Given the description of an element on the screen output the (x, y) to click on. 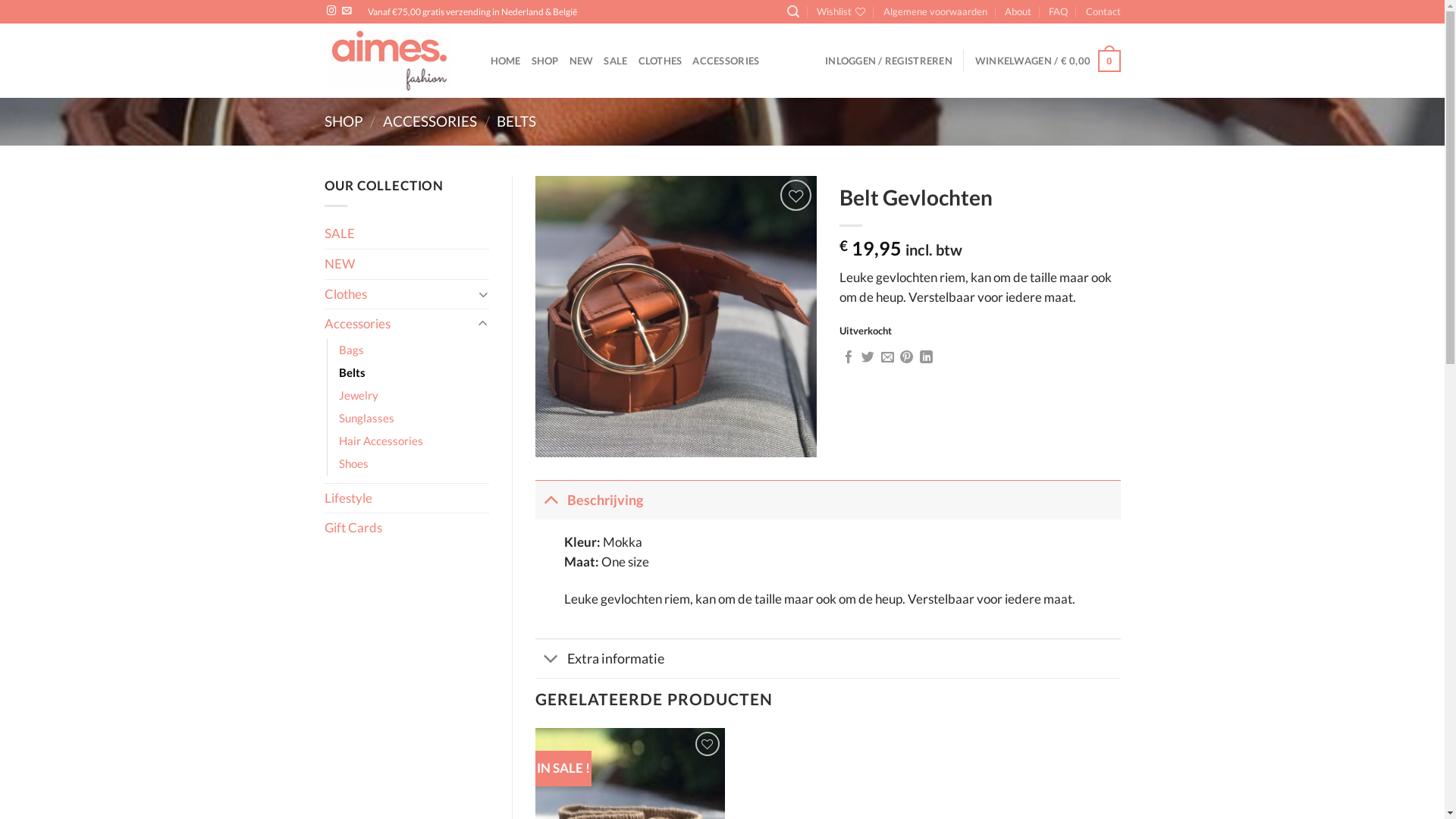
Deel op Facebook Element type: hover (848, 358)
Wishlist Element type: text (840, 11)
Stuur door naar een vriend Element type: hover (887, 358)
Deel op Twitter Element type: hover (867, 358)
About Element type: text (1017, 11)
Lifestyle Element type: text (406, 498)
Accessories Element type: text (398, 323)
ACCESSORIES Element type: text (429, 120)
Sunglasses Element type: text (365, 418)
Beschrijving Element type: text (827, 499)
Clothes Element type: text (398, 294)
Jewelry Element type: text (357, 395)
Belt gevlochten mokka Element type: hover (675, 316)
SHOP Element type: text (544, 60)
SALE Element type: text (615, 60)
CLOTHES Element type: text (660, 60)
Contact Element type: text (1102, 11)
NEW Element type: text (581, 60)
Stuur ons een e-mail Element type: hover (346, 11)
Gift Cards Element type: text (406, 527)
Share on LinkedIn Element type: hover (925, 358)
Shoes Element type: text (352, 463)
ACCESSORIES Element type: text (725, 60)
SHOP Element type: text (343, 120)
FAQ Element type: text (1057, 11)
HOME Element type: text (504, 60)
Pin op Pinterest Element type: hover (906, 358)
Belts Element type: text (351, 372)
Aimes - Fashion Element type: hover (395, 60)
Algemene voorwaarden Element type: text (935, 11)
INLOGGEN / REGISTREREN Element type: text (888, 60)
Extra informatie Element type: text (827, 657)
Volg ons op Instagram Element type: hover (330, 11)
NEW Element type: text (406, 264)
Bags Element type: text (350, 349)
Hair Accessories Element type: text (380, 440)
SALE Element type: text (406, 233)
BELTS Element type: text (516, 120)
